Given the description of an element on the screen output the (x, y) to click on. 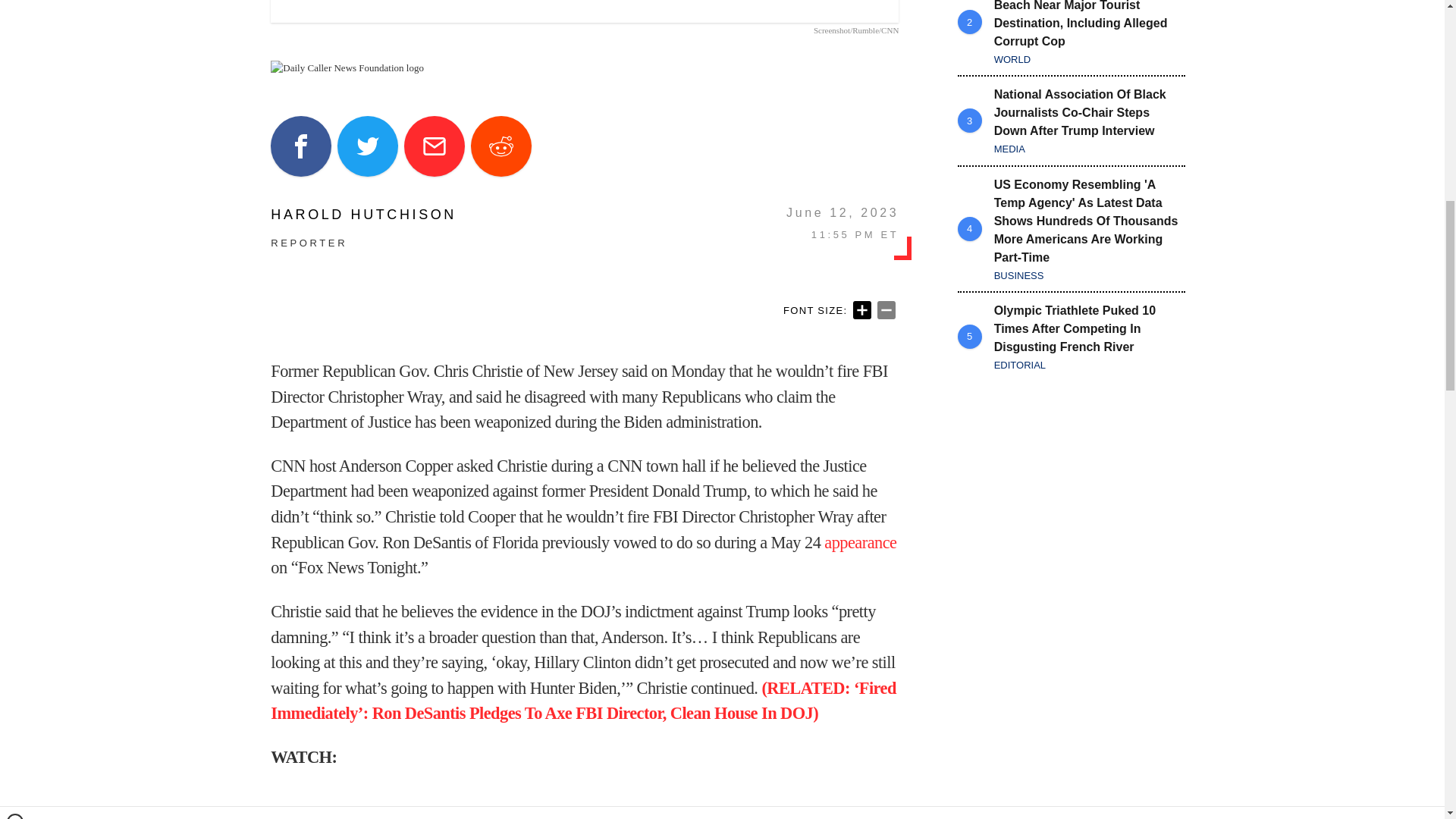
appearance (860, 542)
DCNF - Cooper Christie DOJ CNN - Featured (584, 11)
HAROLD HUTCHISON (363, 214)
Close window (14, 6)
View More Articles By Harold Hutchison (363, 214)
